Given the description of an element on the screen output the (x, y) to click on. 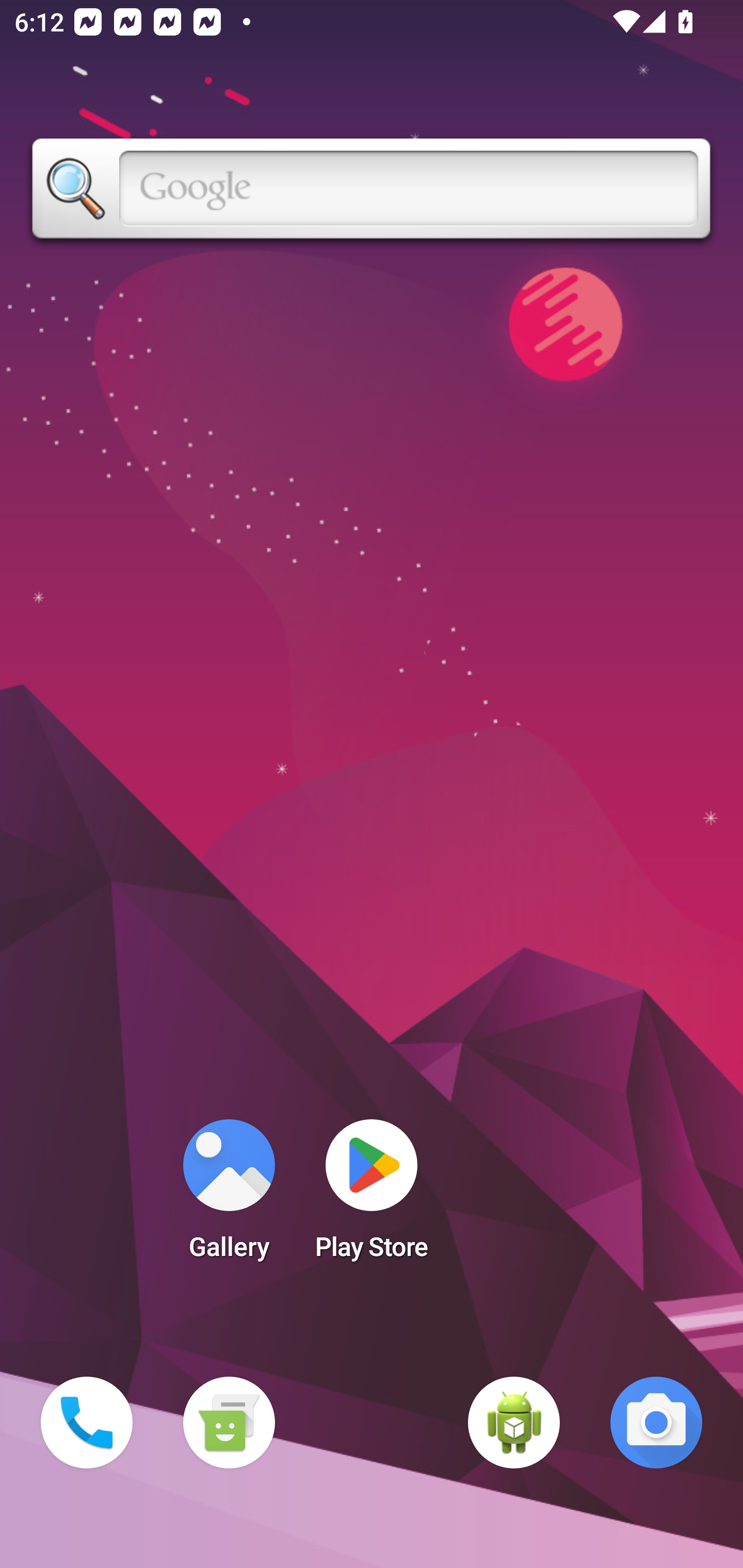
Gallery (228, 1195)
Play Store (371, 1195)
Phone (86, 1422)
Messaging (228, 1422)
WebView Browser Tester (513, 1422)
Camera (656, 1422)
